Given the description of an element on the screen output the (x, y) to click on. 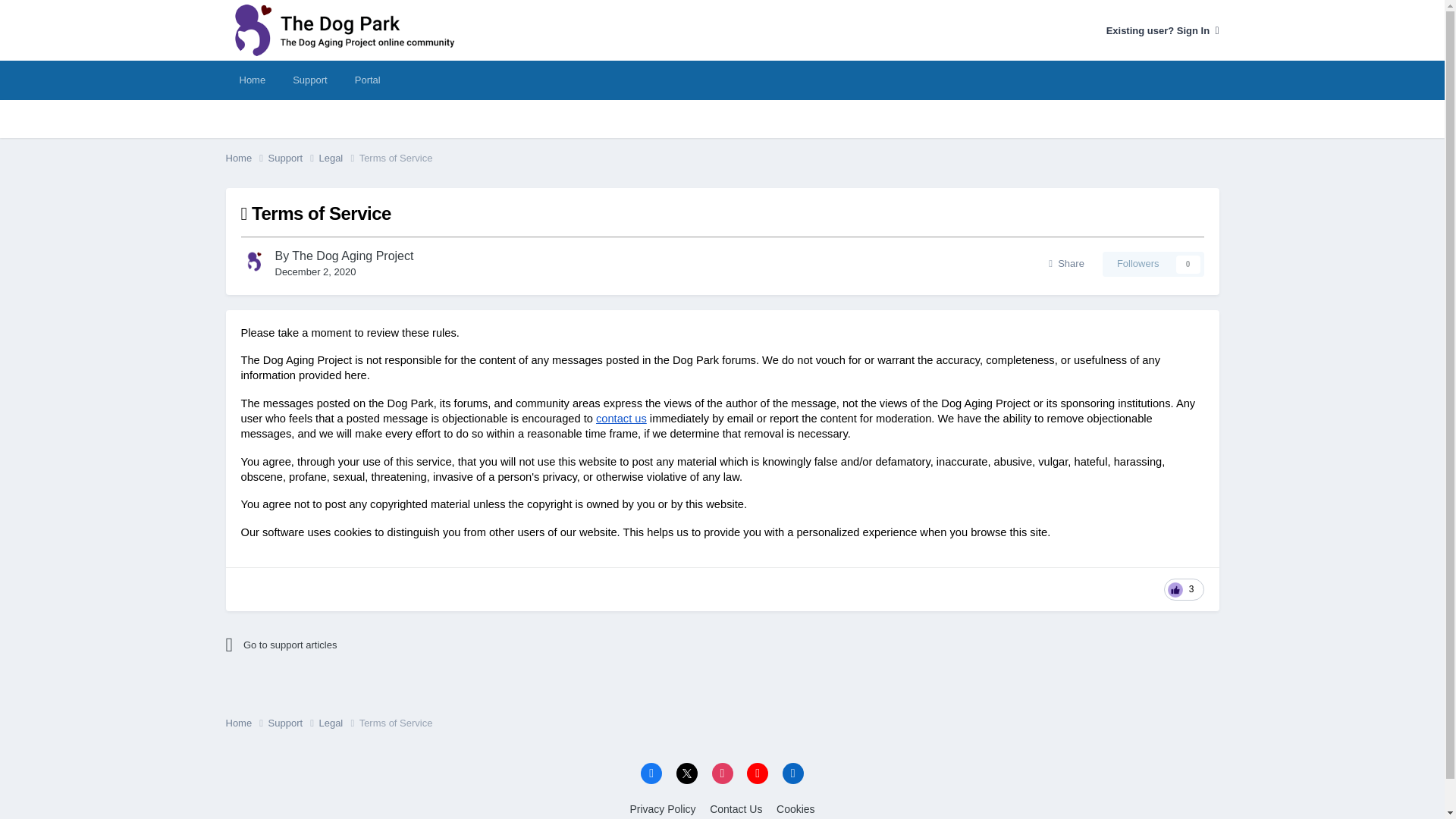
Home (246, 158)
Sign in to follow this (1153, 263)
Go to Legal (358, 645)
Existing user? Sign In   (1163, 30)
 Share (1066, 263)
 contact us (619, 418)
Home (252, 79)
Like (1183, 589)
Support (309, 79)
Home (246, 158)
Go to support articles (1153, 263)
Home (358, 645)
Support (246, 723)
Portal (292, 158)
